Given the description of an element on the screen output the (x, y) to click on. 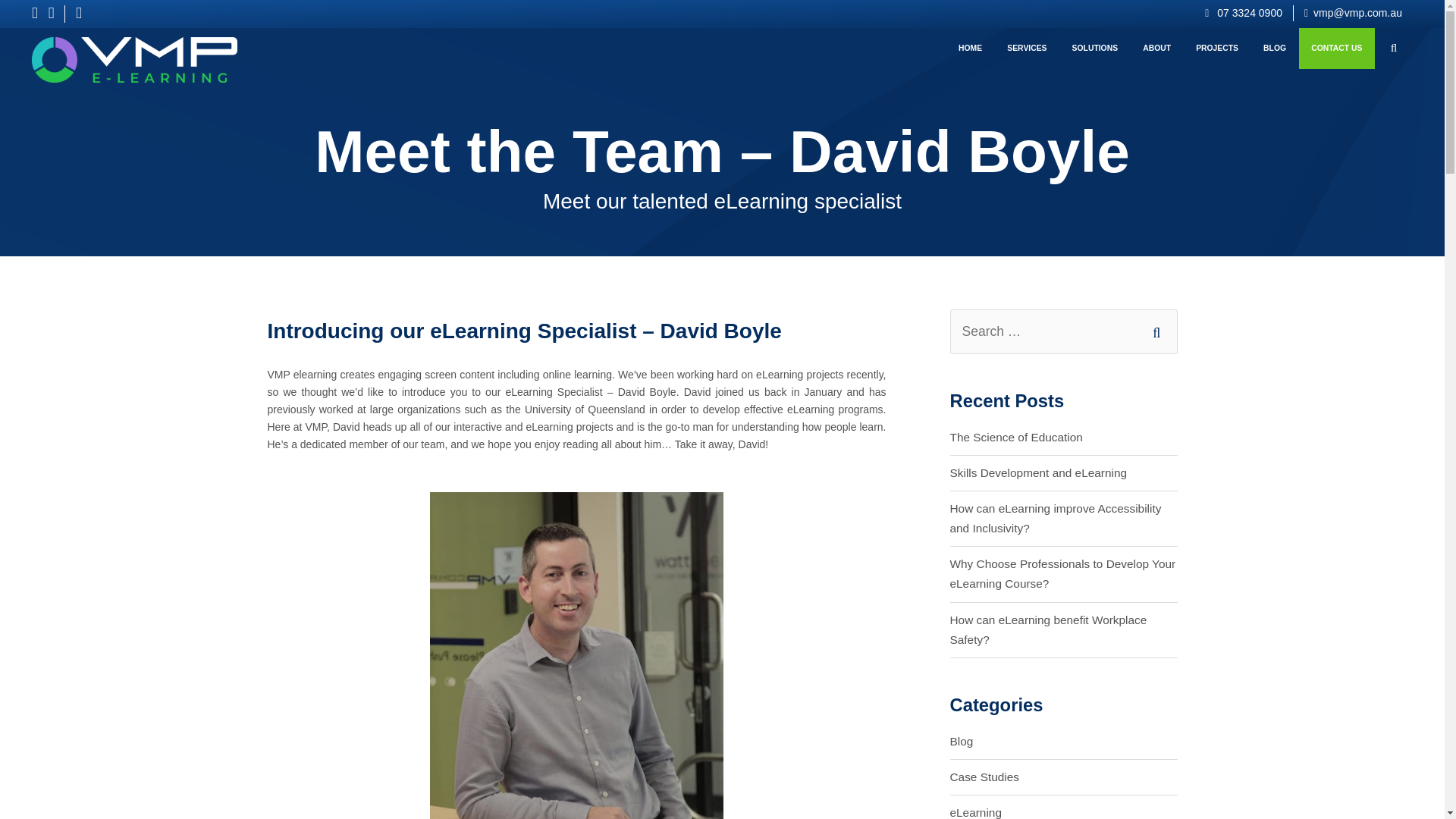
   07 3324 0900 (1243, 12)
Case Studies (984, 777)
How can eLearning improve Accessibility and Inclusivity? (1062, 518)
Why Choose Professionals to Develop Your eLearning Course? (1062, 574)
eLearning (975, 807)
How can eLearning benefit Workplace Safety? (1062, 629)
BLOG (1274, 48)
PROJECTS (1216, 48)
ABOUT (1157, 48)
SOLUTIONS (1095, 48)
